Given the description of an element on the screen output the (x, y) to click on. 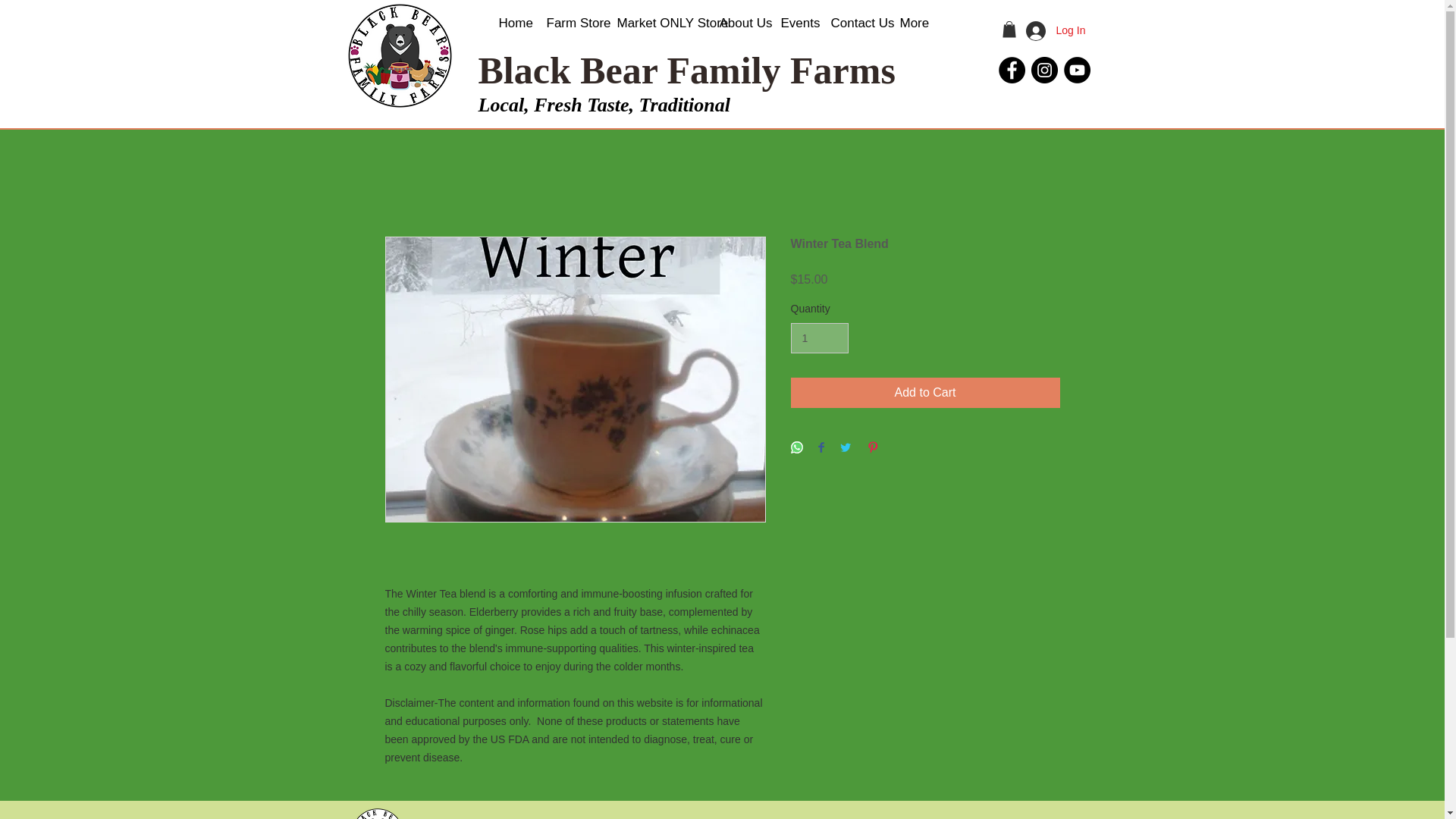
Log In (1054, 30)
Events (793, 22)
Home (510, 22)
Market ONLY Store (656, 22)
Farm Store (570, 22)
Add to Cart (924, 392)
About Us (738, 22)
1 (818, 337)
Contact Us (853, 22)
